Given the description of an element on the screen output the (x, y) to click on. 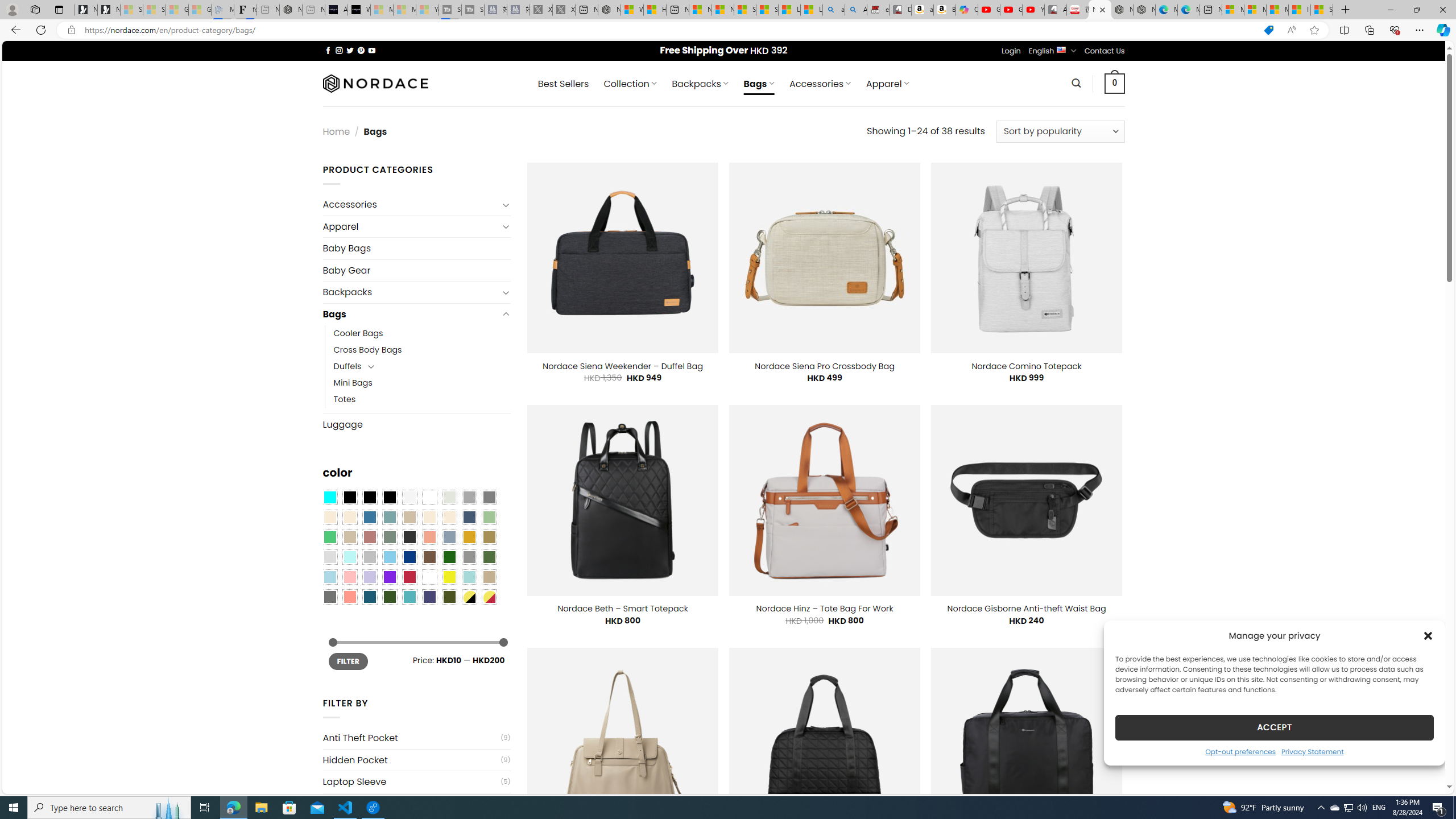
Microsoft account | Privacy (1255, 9)
Luggage (416, 423)
Follow on Instagram (338, 49)
Silver (369, 557)
Hidden Pocket (410, 760)
New tab - Sleeping (313, 9)
Gloom - YouTube (1010, 9)
Purple Navy (429, 596)
Brown (429, 557)
App bar (728, 29)
Totes (344, 398)
Light Blue (329, 577)
